Given the description of an element on the screen output the (x, y) to click on. 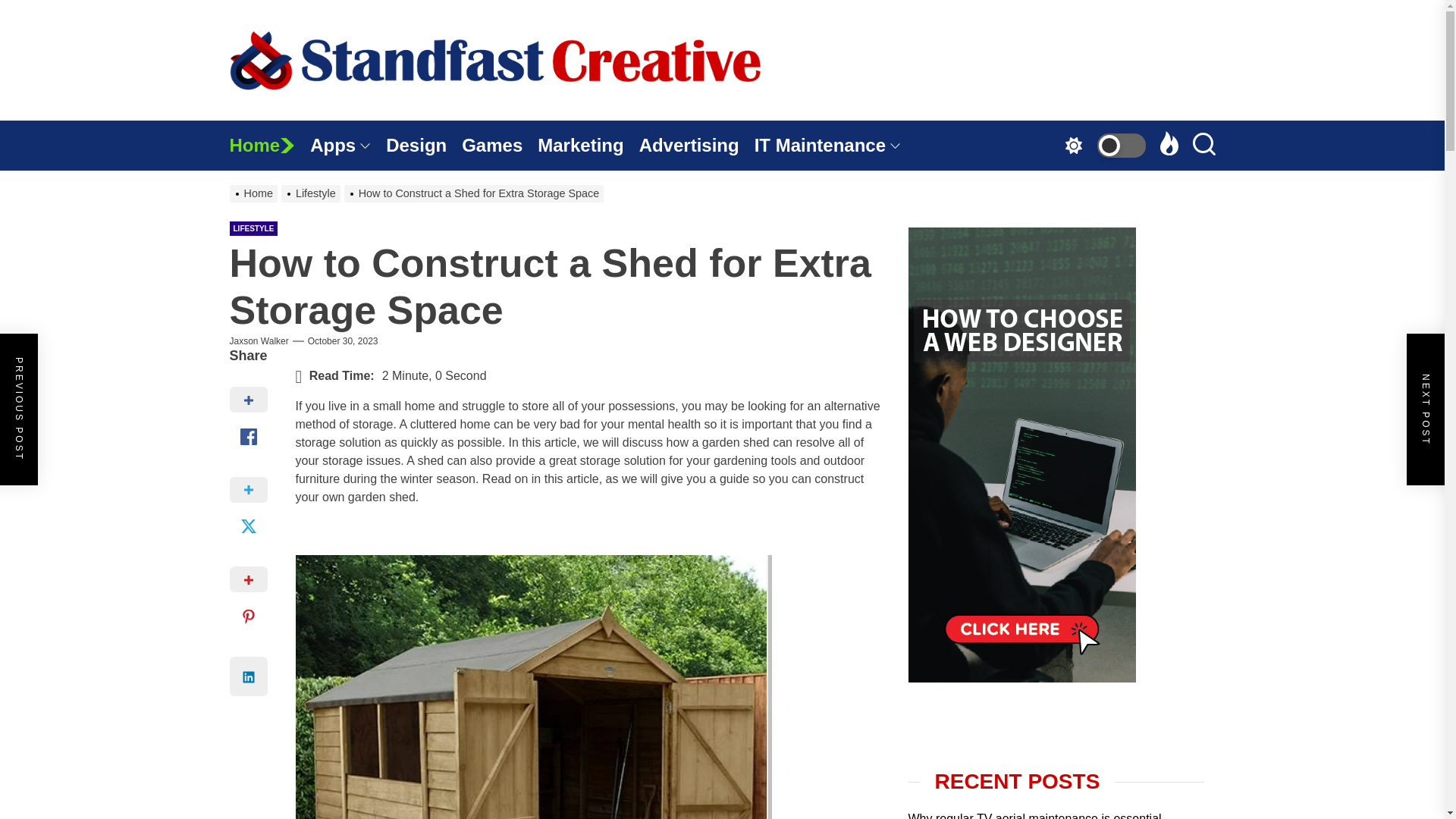
Design (423, 145)
Standfast Creative (594, 140)
Advertising (696, 145)
Home (269, 145)
Marketing (588, 145)
Games (499, 145)
Apps (347, 145)
Home (269, 145)
IT Maintenance (834, 145)
